Given the description of an element on the screen output the (x, y) to click on. 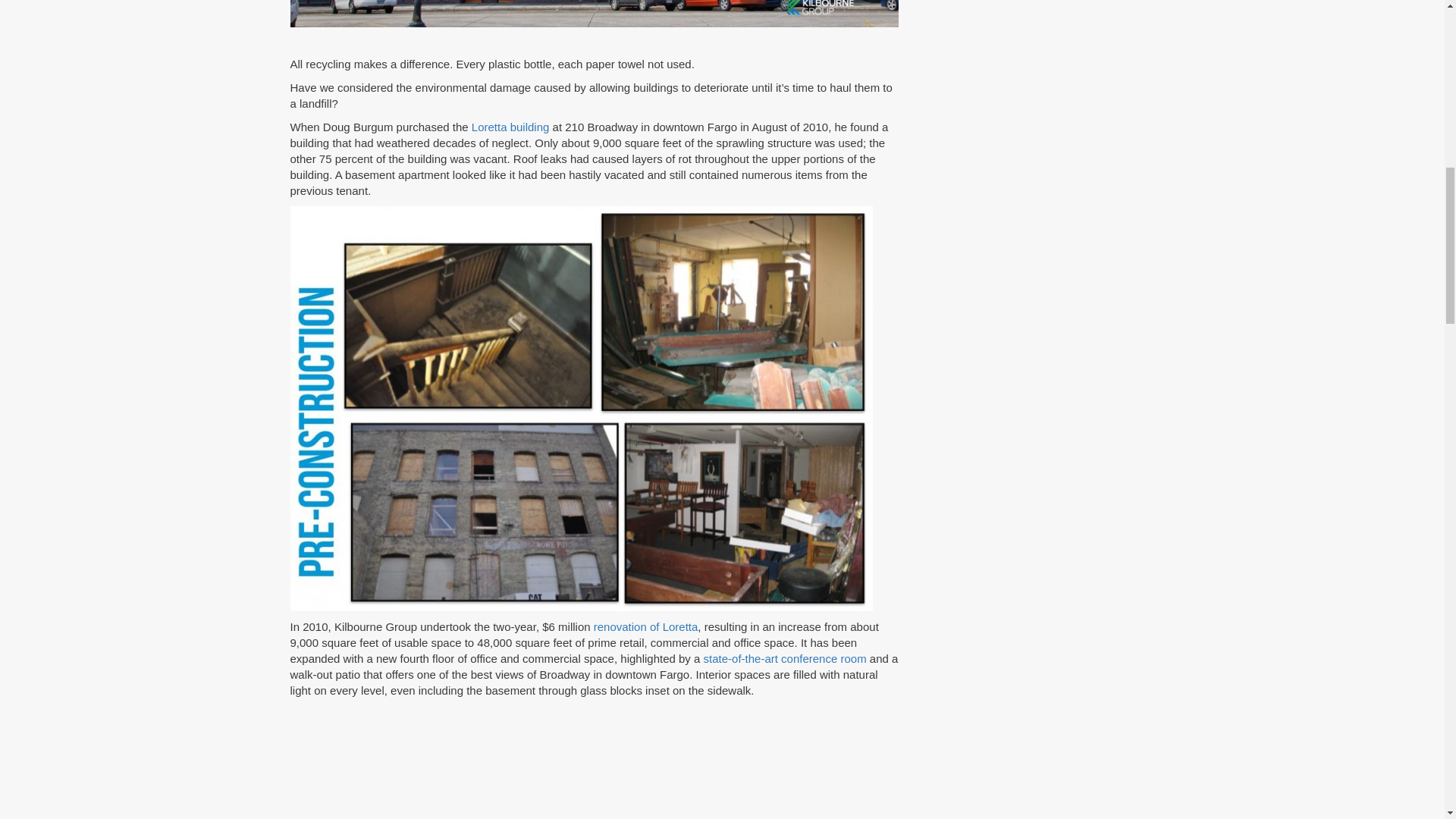
Loretta building (510, 126)
renovation of Loretta (646, 626)
state-of-the-art conference room (784, 658)
